Given the description of an element on the screen output the (x, y) to click on. 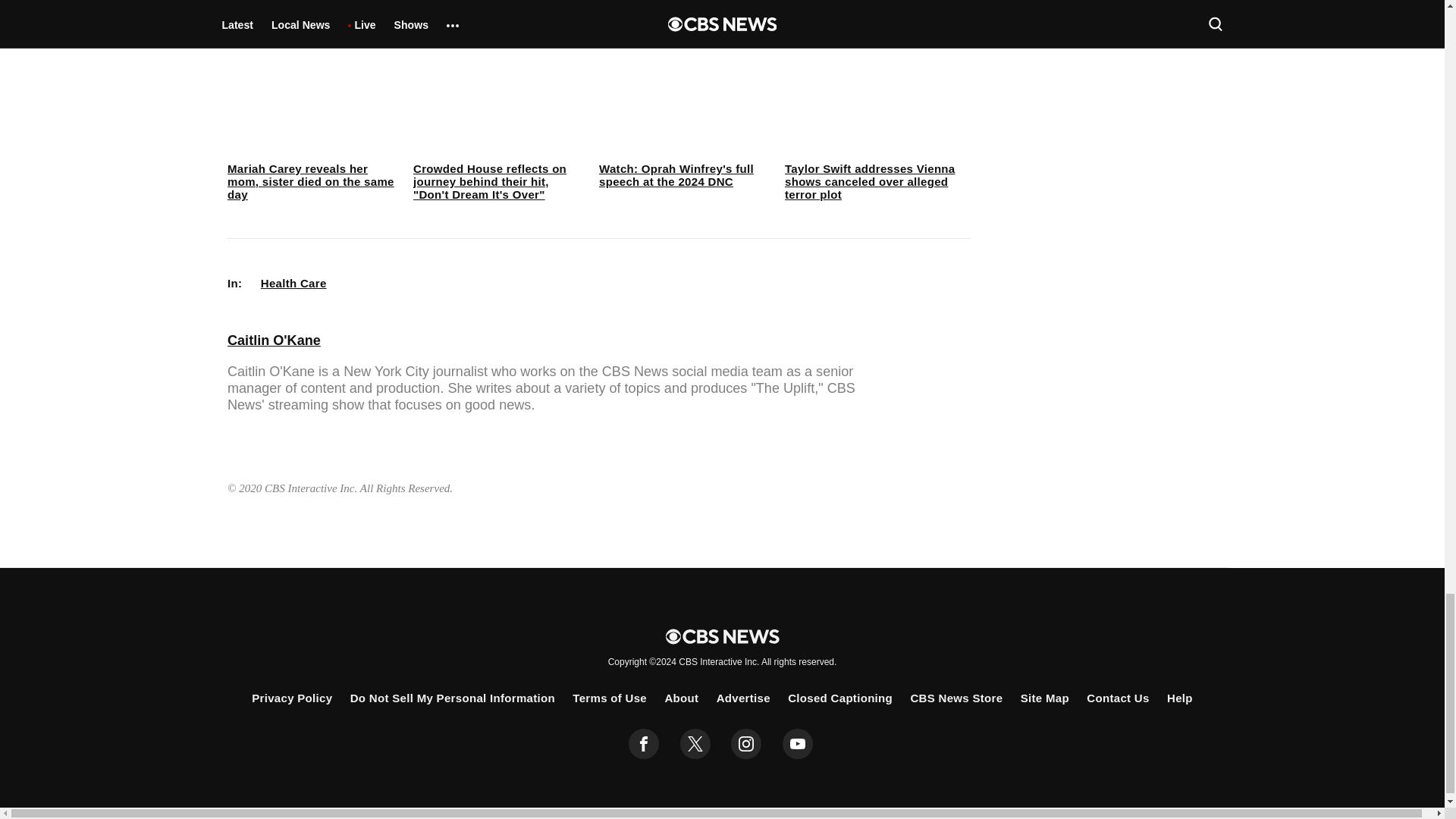
facebook (643, 743)
youtube (797, 743)
instagram (745, 743)
twitter (694, 743)
